Given the description of an element on the screen output the (x, y) to click on. 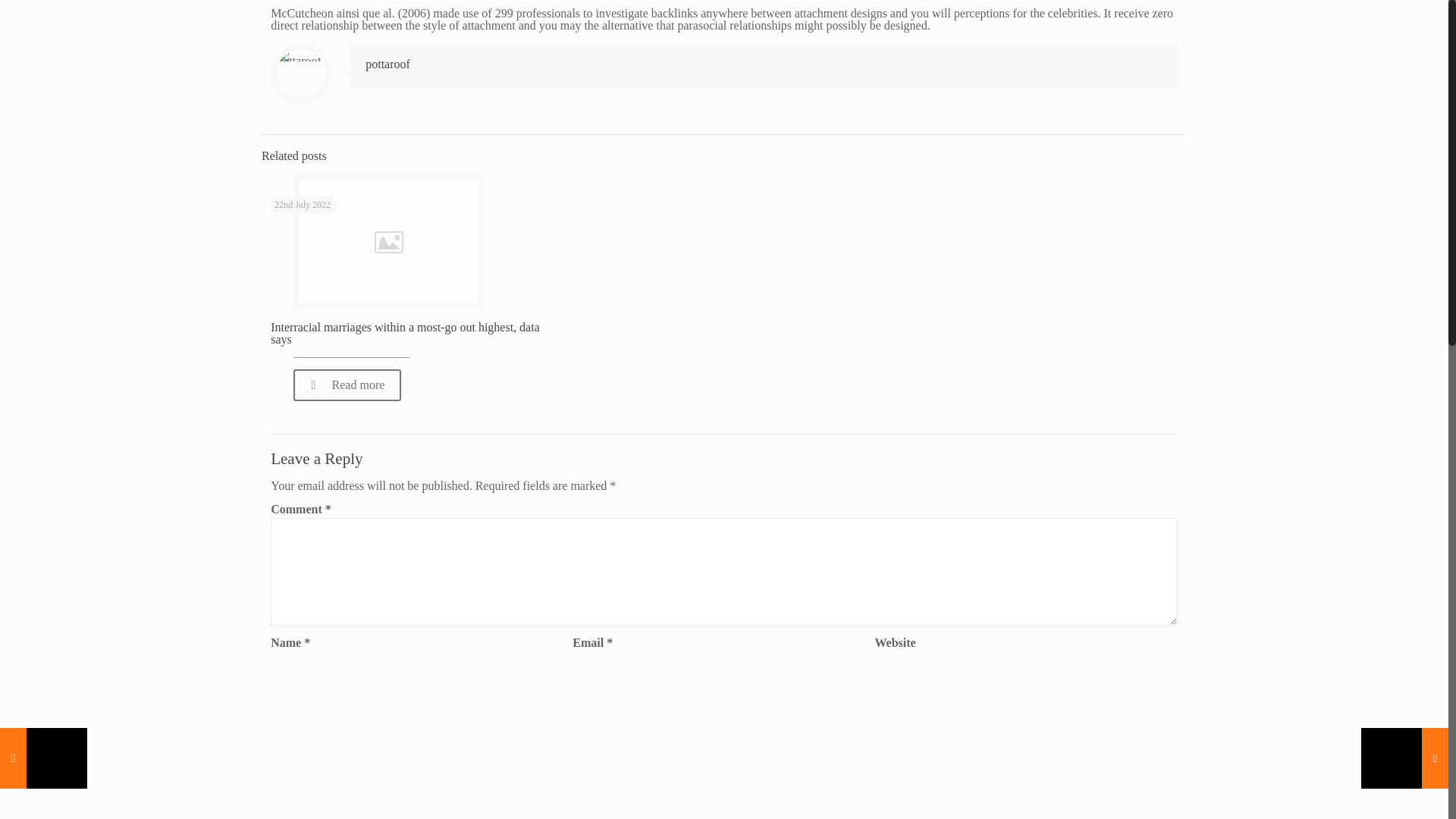
Post Comment (1127, 706)
